Given the description of an element on the screen output the (x, y) to click on. 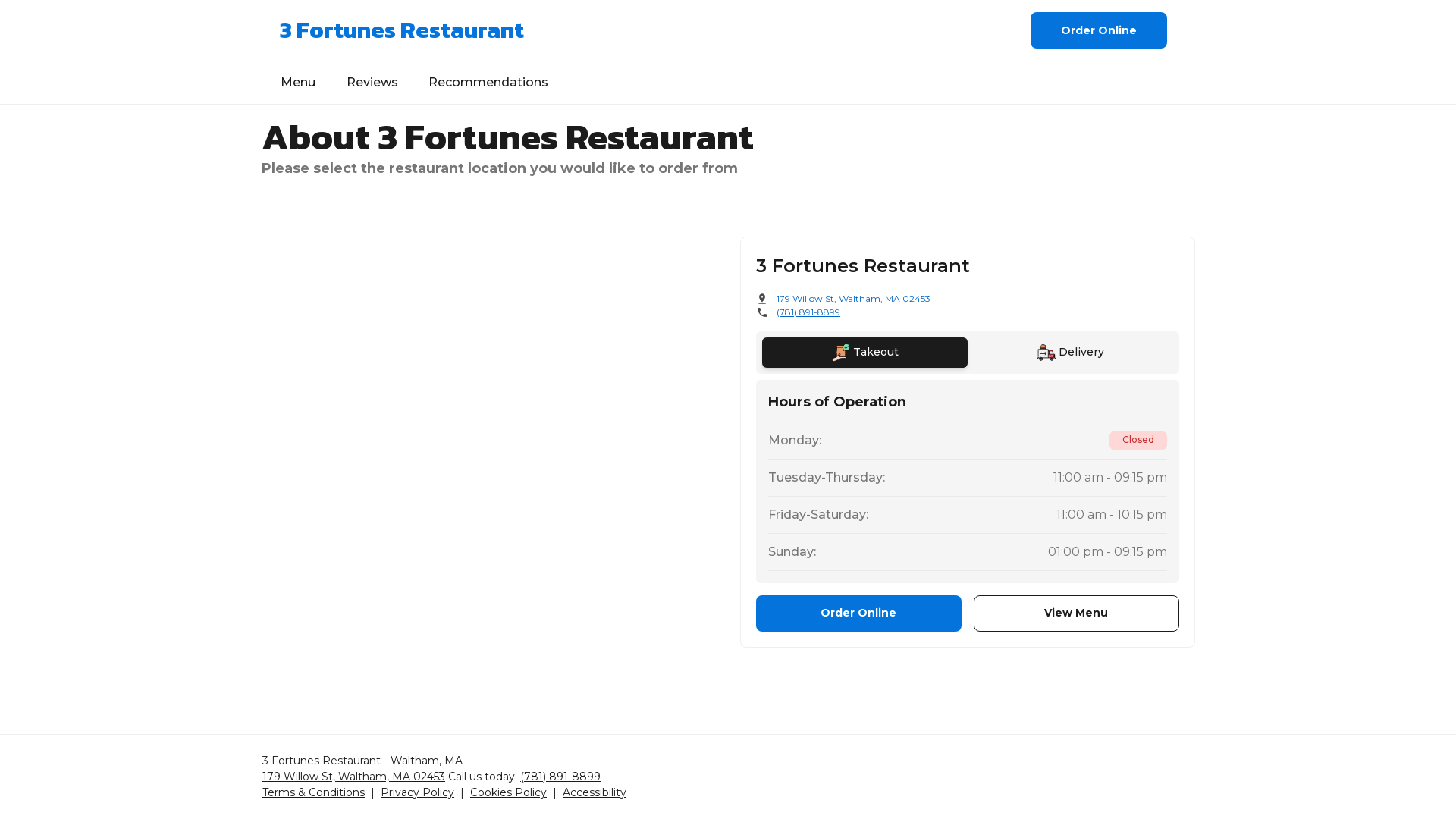
3 Fortunes Restaurant Element type: text (401, 29)
(781) 891-8899 Element type: text (808, 312)
Recommendations Element type: text (488, 82)
Cookies Policy Element type: text (508, 792)
map Element type: hover (494, 441)
179 Willow St, Waltham, MA 02453 Element type: text (353, 776)
Order Online Element type: text (858, 613)
Menu Element type: text (297, 82)
View Menu Element type: text (1076, 613)
(781) 891-8899 Element type: text (560, 776)
Terms & Conditions Element type: text (313, 792)
179 Willow St, Waltham, MA 02453 Element type: text (853, 298)
Recommendations Element type: text (488, 82)
Reviews Element type: text (372, 82)
Accessibility Element type: text (594, 792)
Reviews Element type: text (372, 82)
Order Online Element type: text (1098, 30)
Privacy Policy Element type: text (417, 792)
Menu Element type: text (297, 82)
